Given the description of an element on the screen output the (x, y) to click on. 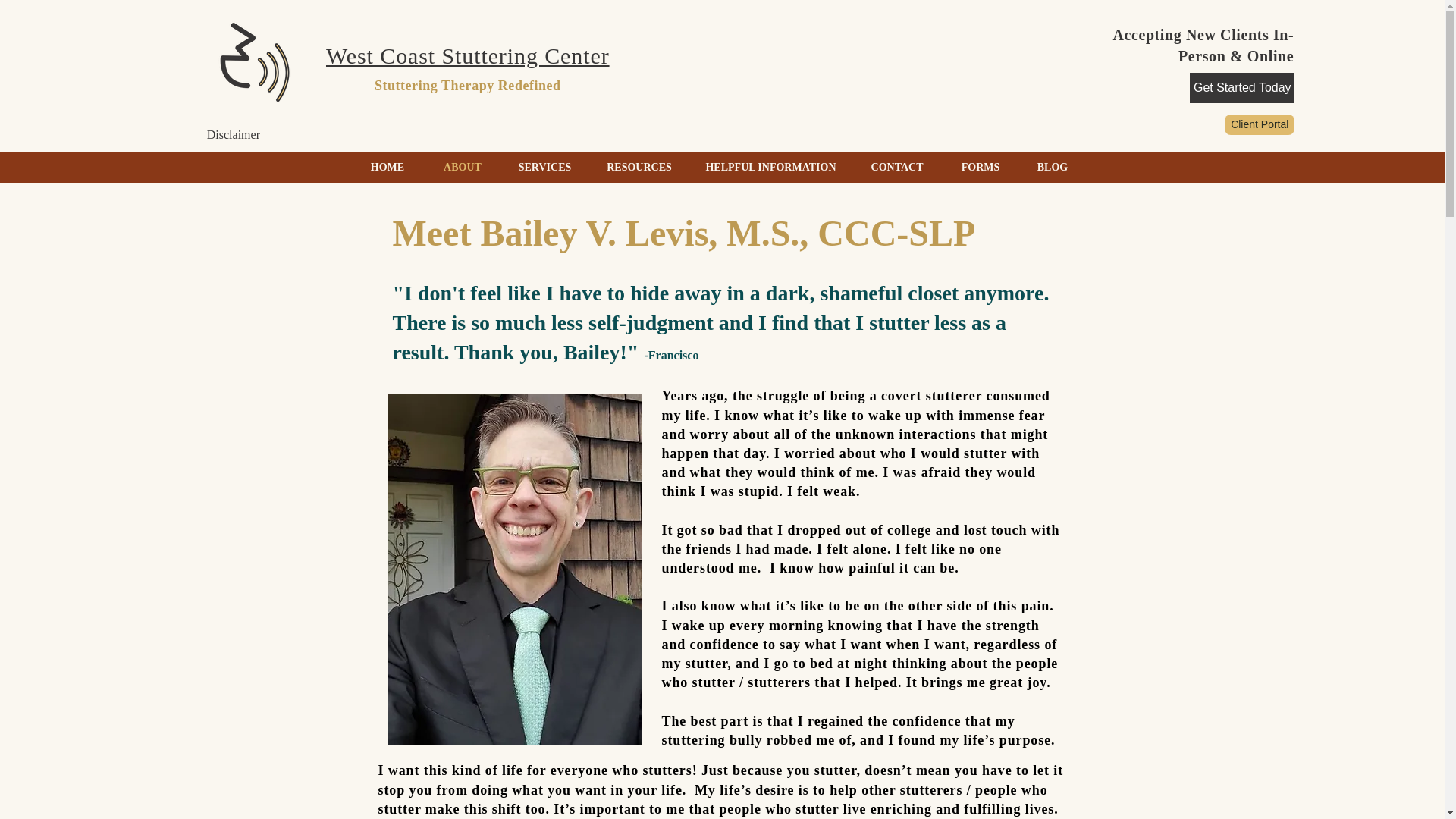
West Coast Stuttering Center (468, 55)
CONTACT (896, 167)
Client Portal (1259, 124)
Get Started Today (1241, 87)
ABOUT (462, 167)
BLOG (1052, 167)
HOME (386, 167)
Disclaimer (233, 133)
FORMS (979, 167)
HELPFUL INFORMATION (770, 167)
